Given the description of an element on the screen output the (x, y) to click on. 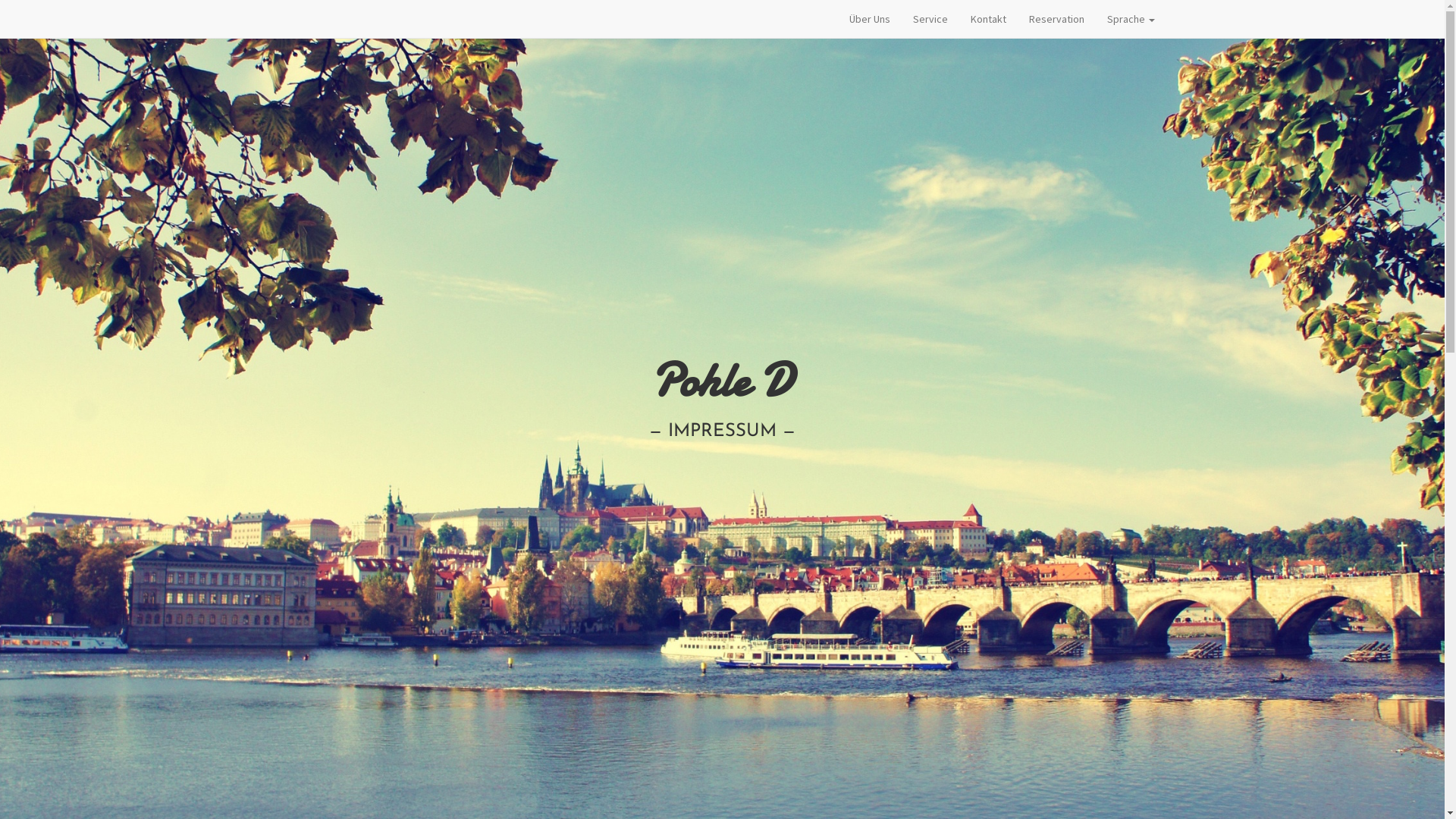
Kontakt Element type: text (987, 18)
Service Element type: text (929, 18)
Reservation Element type: text (1056, 18)
Sprache Element type: text (1130, 18)
